Given the description of an element on the screen output the (x, y) to click on. 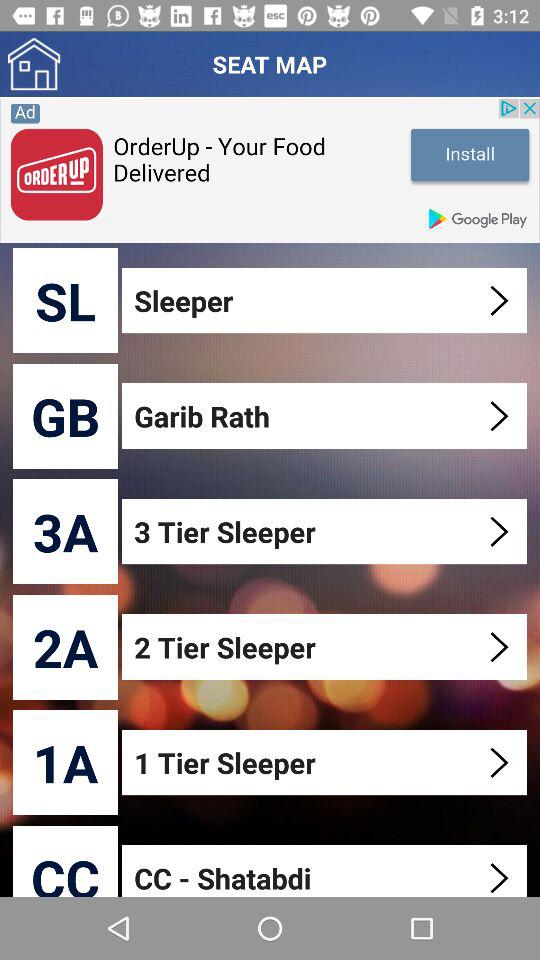
scroll to gb icon (65, 415)
